Given the description of an element on the screen output the (x, y) to click on. 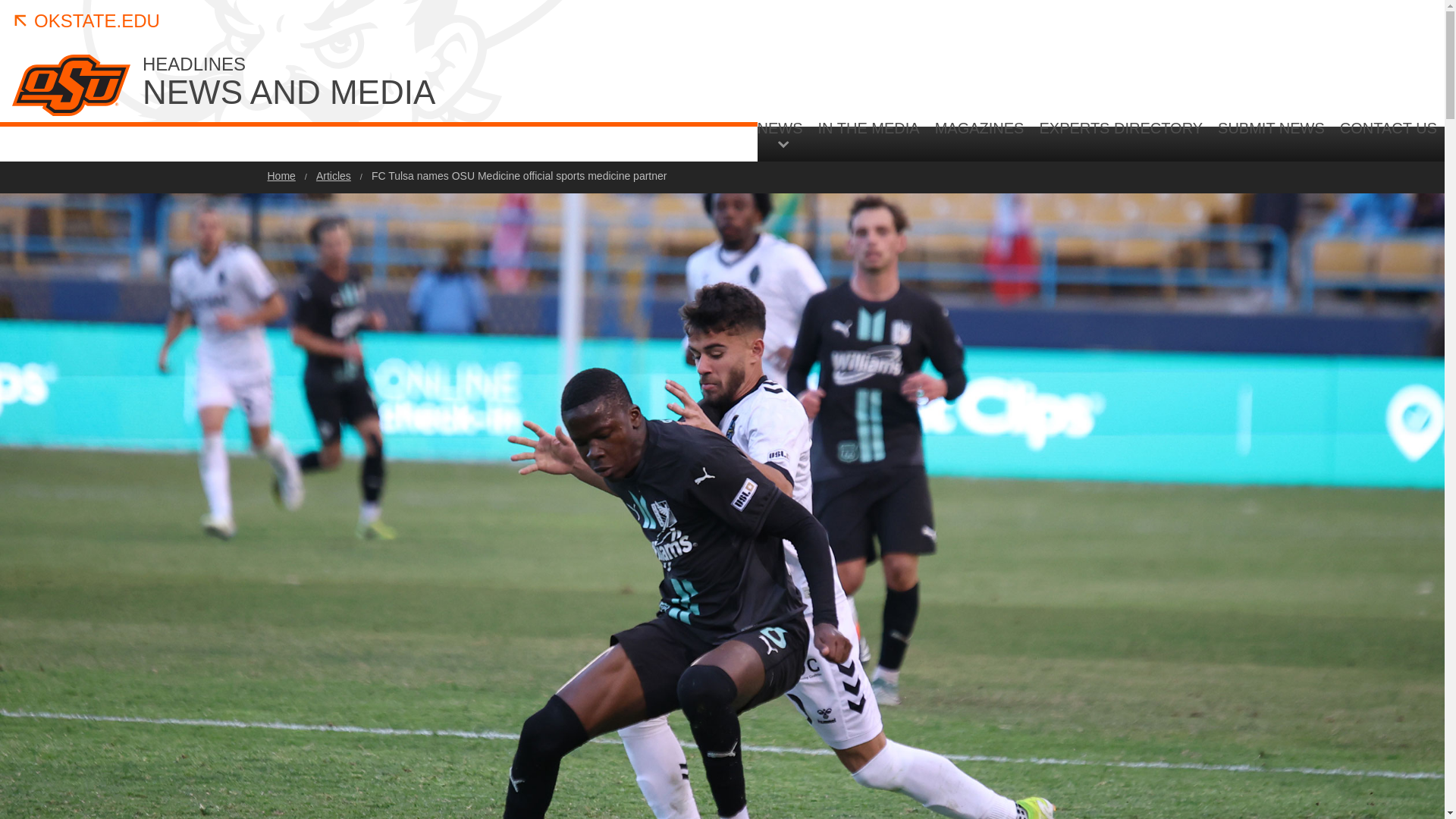
EXPERTS DIRECTORY (1119, 139)
MAGAZINES (979, 139)
Home (280, 175)
OKSTATE.EDU (85, 21)
SUBMIT NEWS (1270, 139)
NEWS (783, 133)
Articles (332, 175)
IN THE MEDIA (868, 139)
FC Tulsa names OSU Medicine official sports medicine partner (518, 175)
Search (1344, 267)
